Given the description of an element on the screen output the (x, y) to click on. 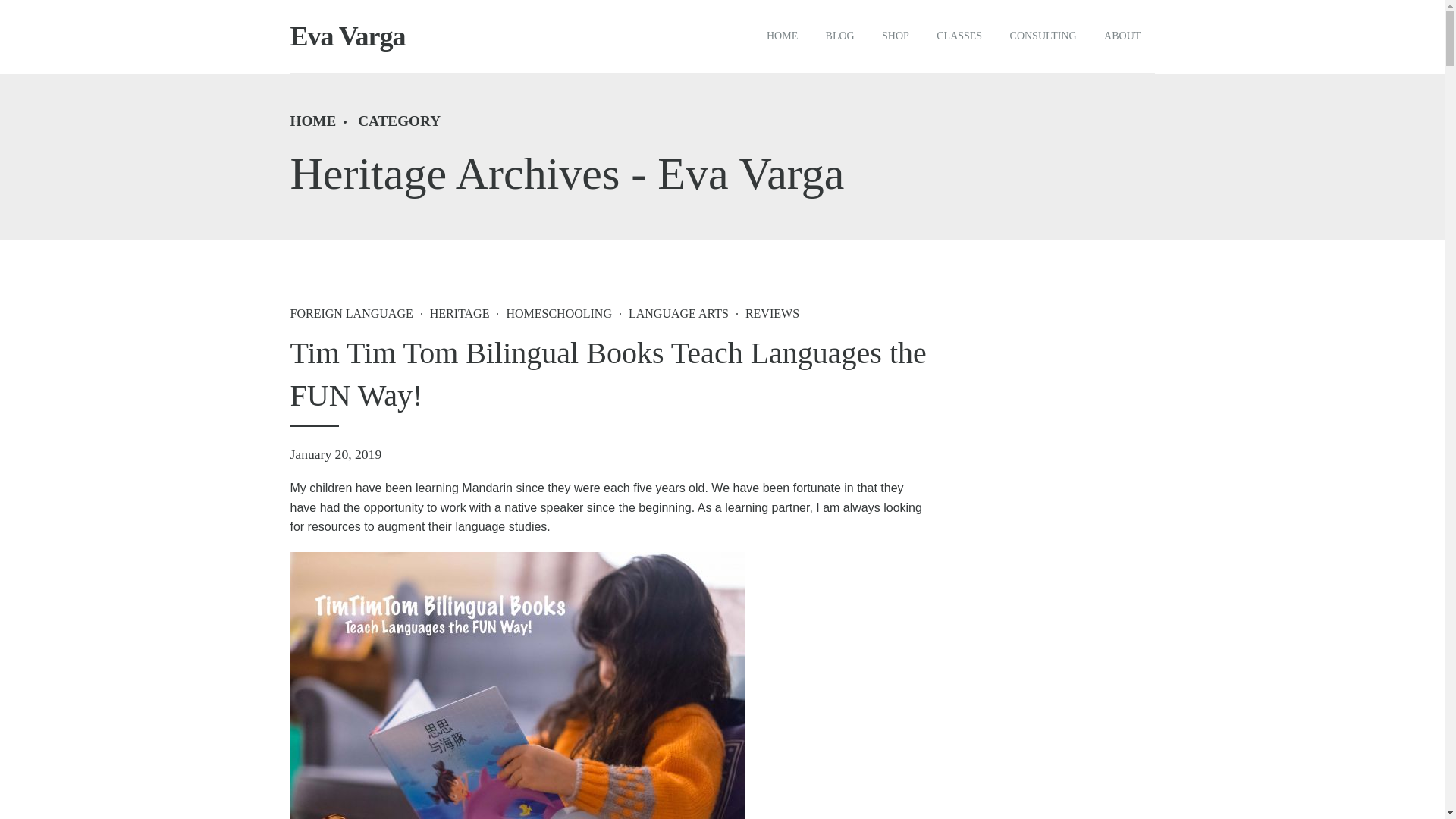
CONSULTING (1042, 36)
HOME (312, 121)
SHOP (895, 36)
ABOUT (1122, 36)
HOME (782, 36)
Eva Varga (346, 36)
LANGUAGE ARTS (670, 313)
CLASSES (959, 36)
HERITAGE (451, 313)
Tim Tim Tom Bilingual Books Teach Languages the FUN Way! (607, 373)
FOREIGN LANGUAGE (350, 313)
REVIEWS (764, 313)
BLOG (838, 36)
HOMESCHOOLING (550, 313)
